Given the description of an element on the screen output the (x, y) to click on. 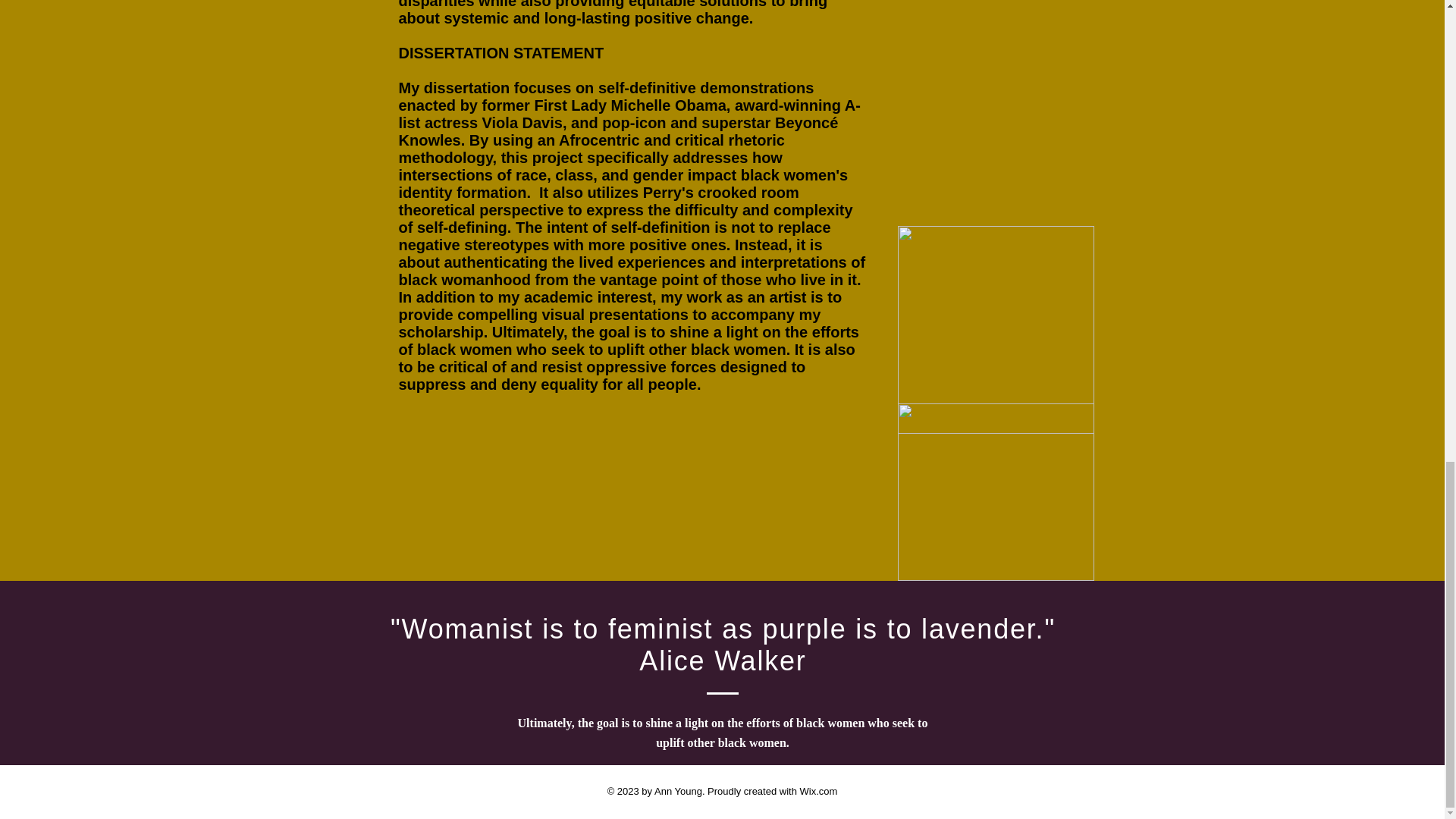
Wix.com (818, 790)
